Given the description of an element on the screen output the (x, y) to click on. 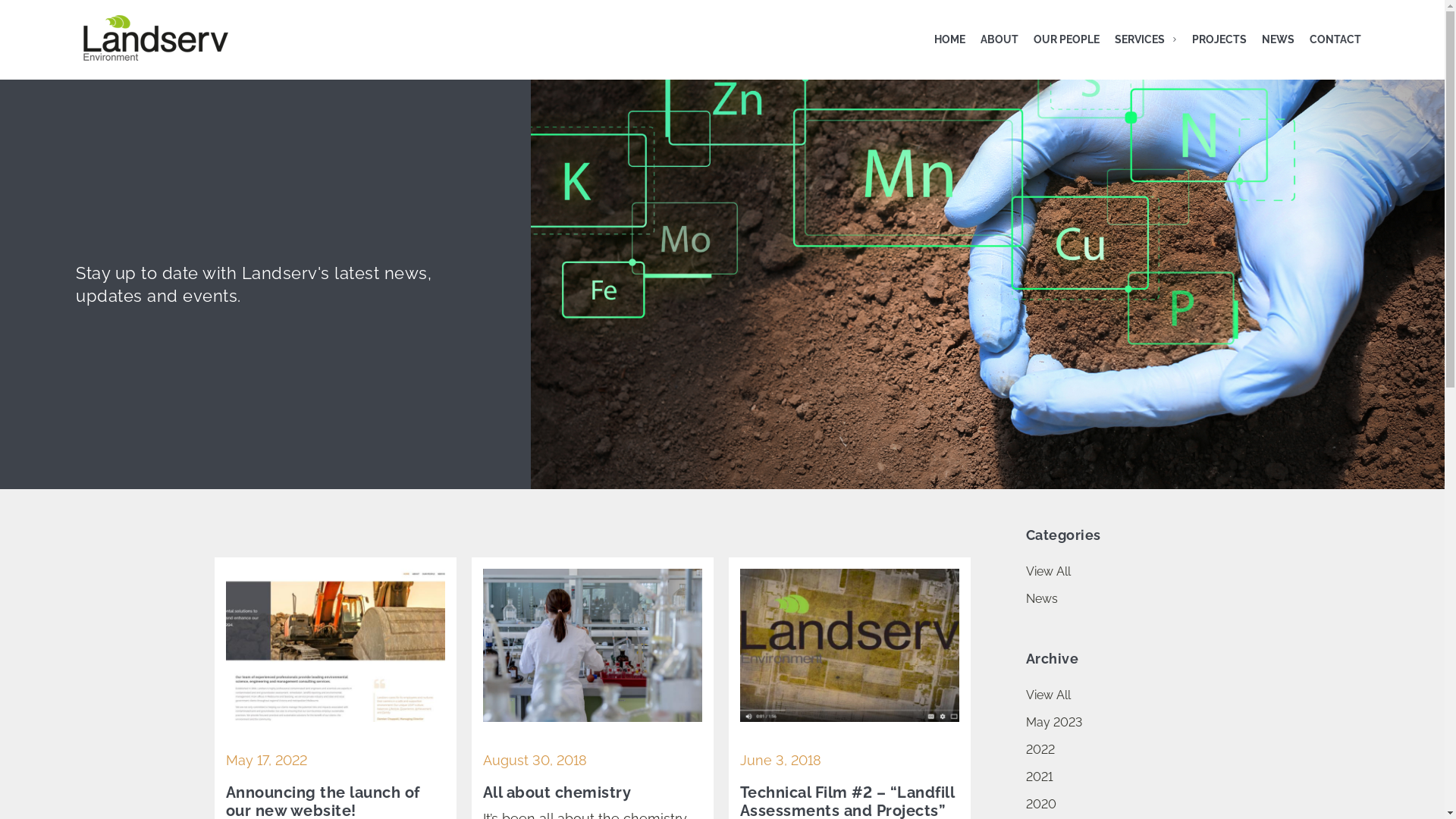
2020 Element type: text (1131, 804)
View All Element type: text (1131, 571)
May 2023 Element type: text (1131, 722)
2021 Element type: text (1131, 776)
HOME Element type: text (949, 39)
ABOUT Element type: text (999, 39)
PROJECTS Element type: text (1219, 39)
2022 Element type: text (1131, 749)
CONTACT Element type: text (1335, 39)
News Element type: text (1131, 598)
View All Element type: text (1131, 695)
SERVICES Element type: text (1145, 39)
NEWS Element type: text (1278, 39)
OUR PEOPLE Element type: text (1066, 39)
